Given the description of an element on the screen output the (x, y) to click on. 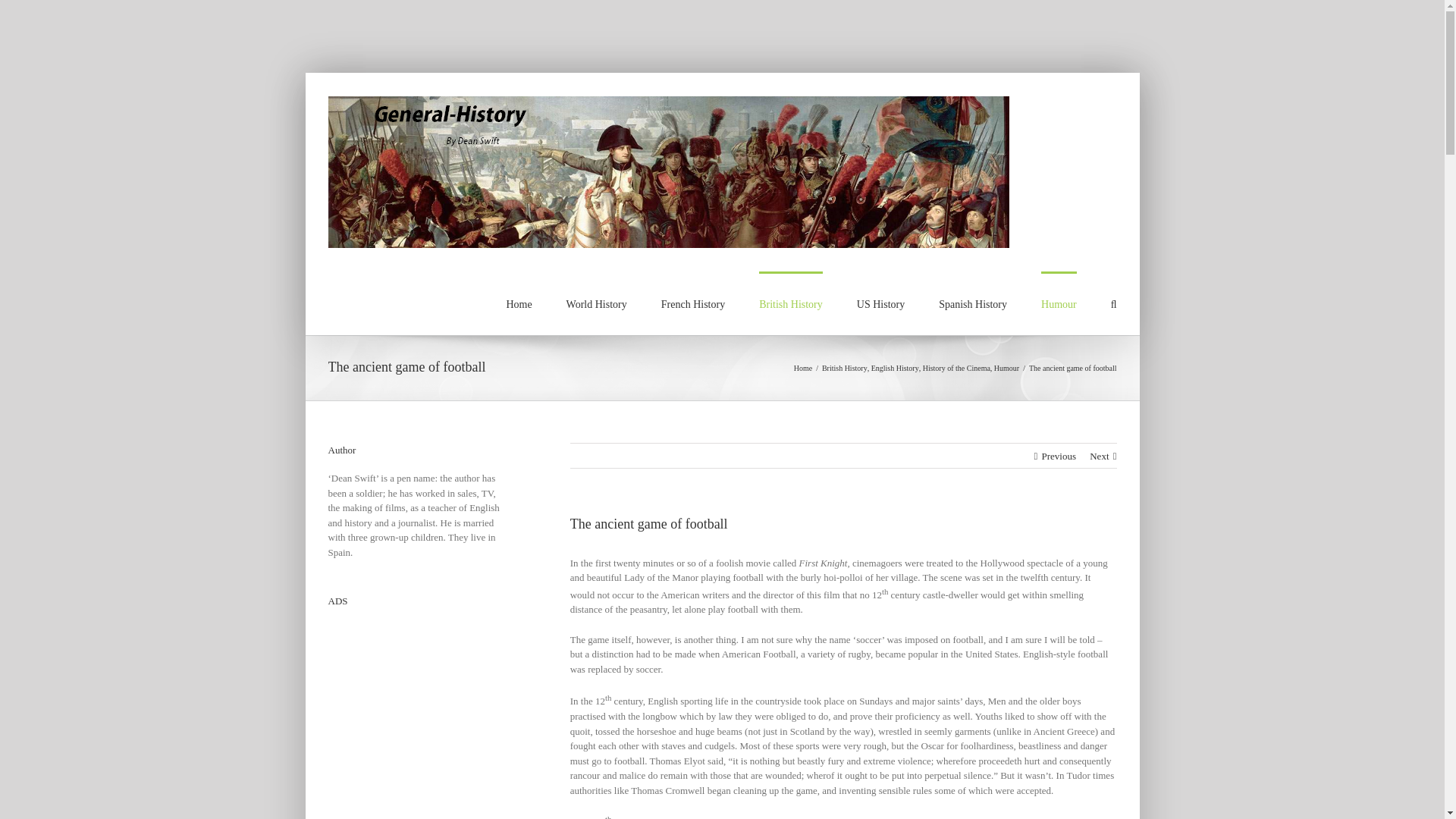
Previous (1058, 455)
Home (802, 367)
British History (790, 302)
History of the Cinema (956, 367)
Humour (1006, 367)
World History (596, 302)
English History (894, 367)
French History (693, 302)
Spanish History (973, 302)
British History (844, 367)
